Given the description of an element on the screen output the (x, y) to click on. 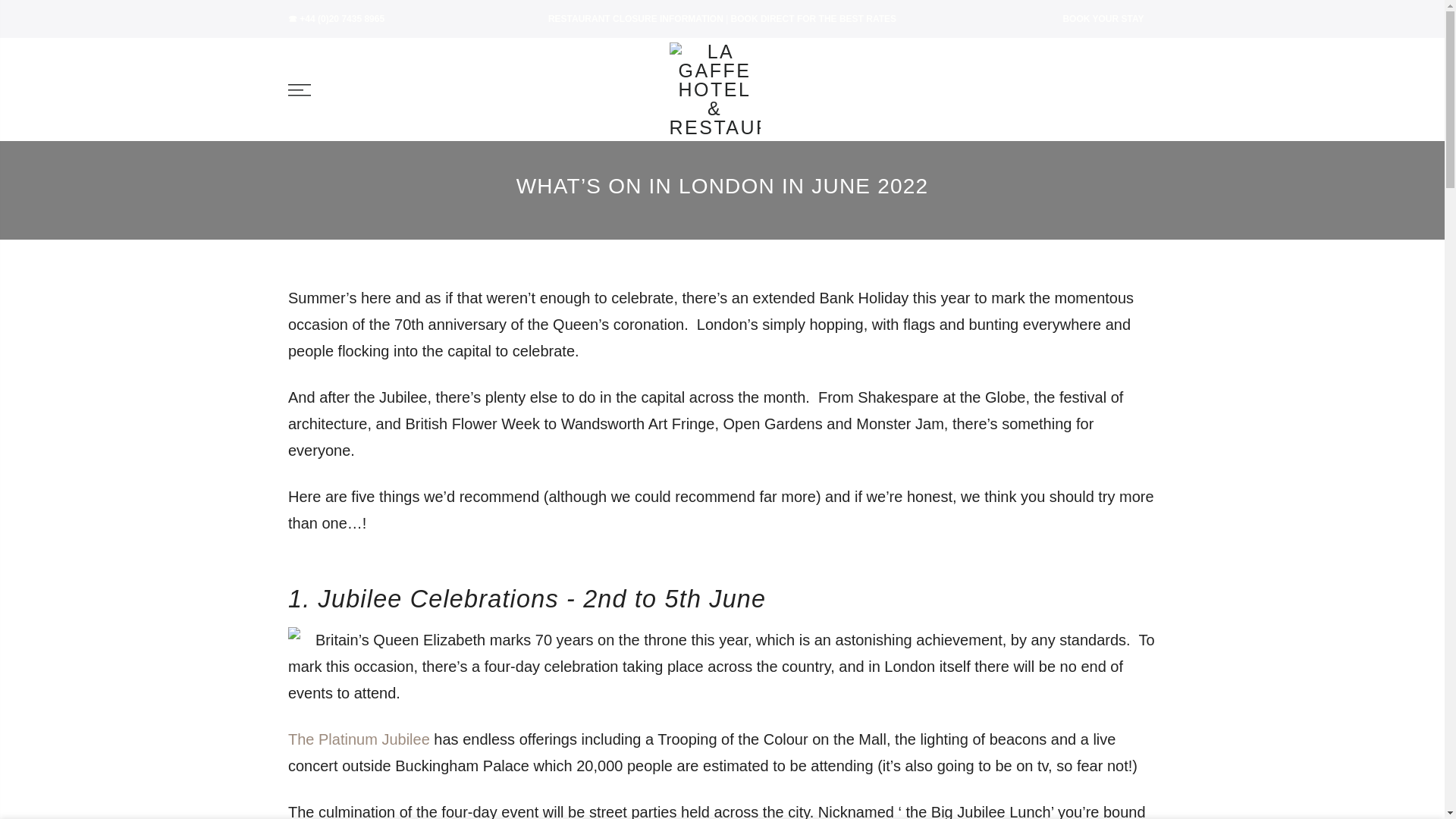
RESTAURANT CLOSURE INFORMATION (635, 18)
The Platinum Jubilee (358, 739)
       BOOK YOUR STAY      (1100, 18)
OPENING INFORMATION (635, 18)
BOOK DIRECT FOR THE BEST RATES (813, 18)
